Given the description of an element on the screen output the (x, y) to click on. 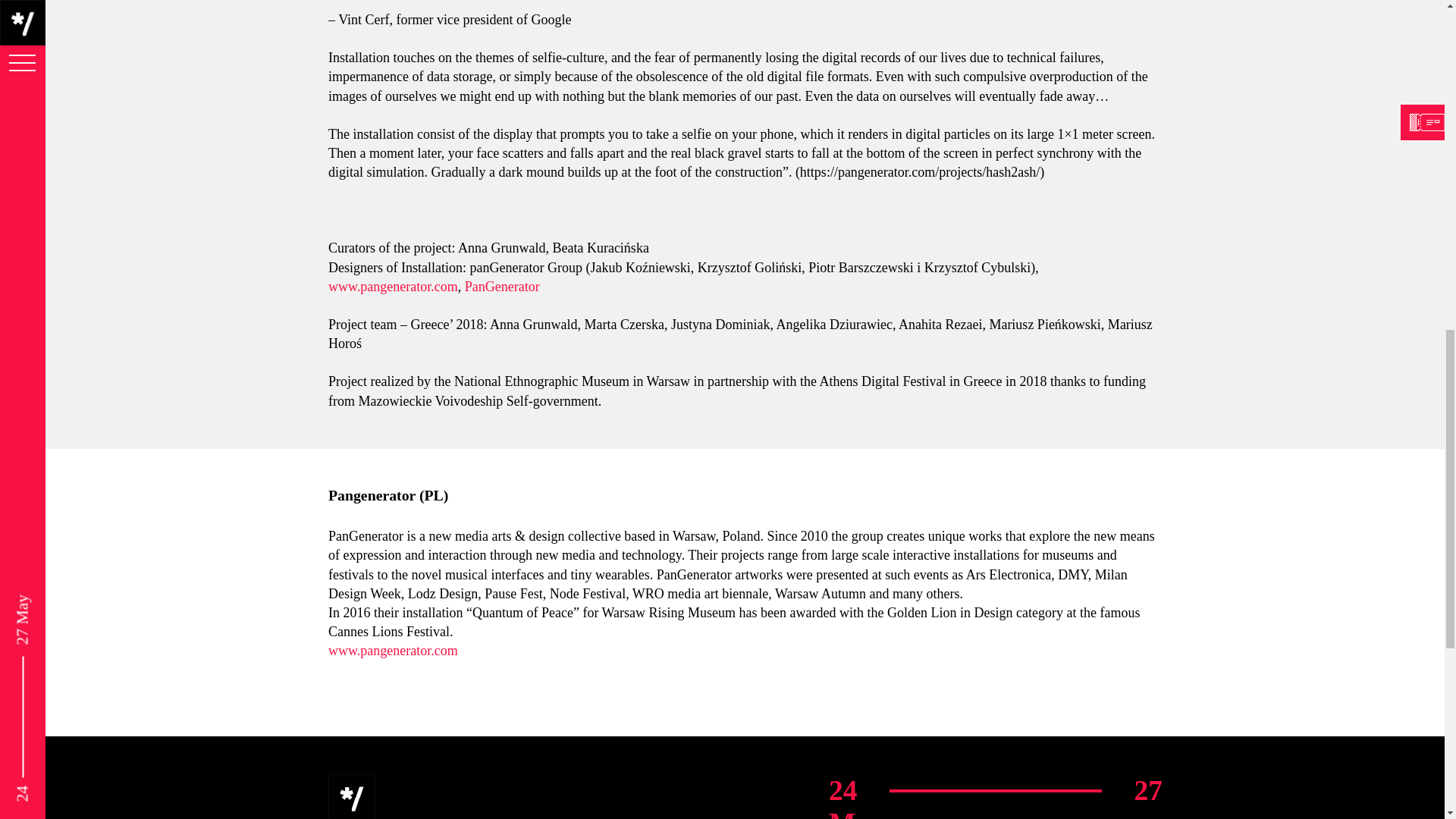
PanGenerator (501, 286)
www.pangenerator.com (392, 650)
www.pangenerator.com (392, 286)
